Given the description of an element on the screen output the (x, y) to click on. 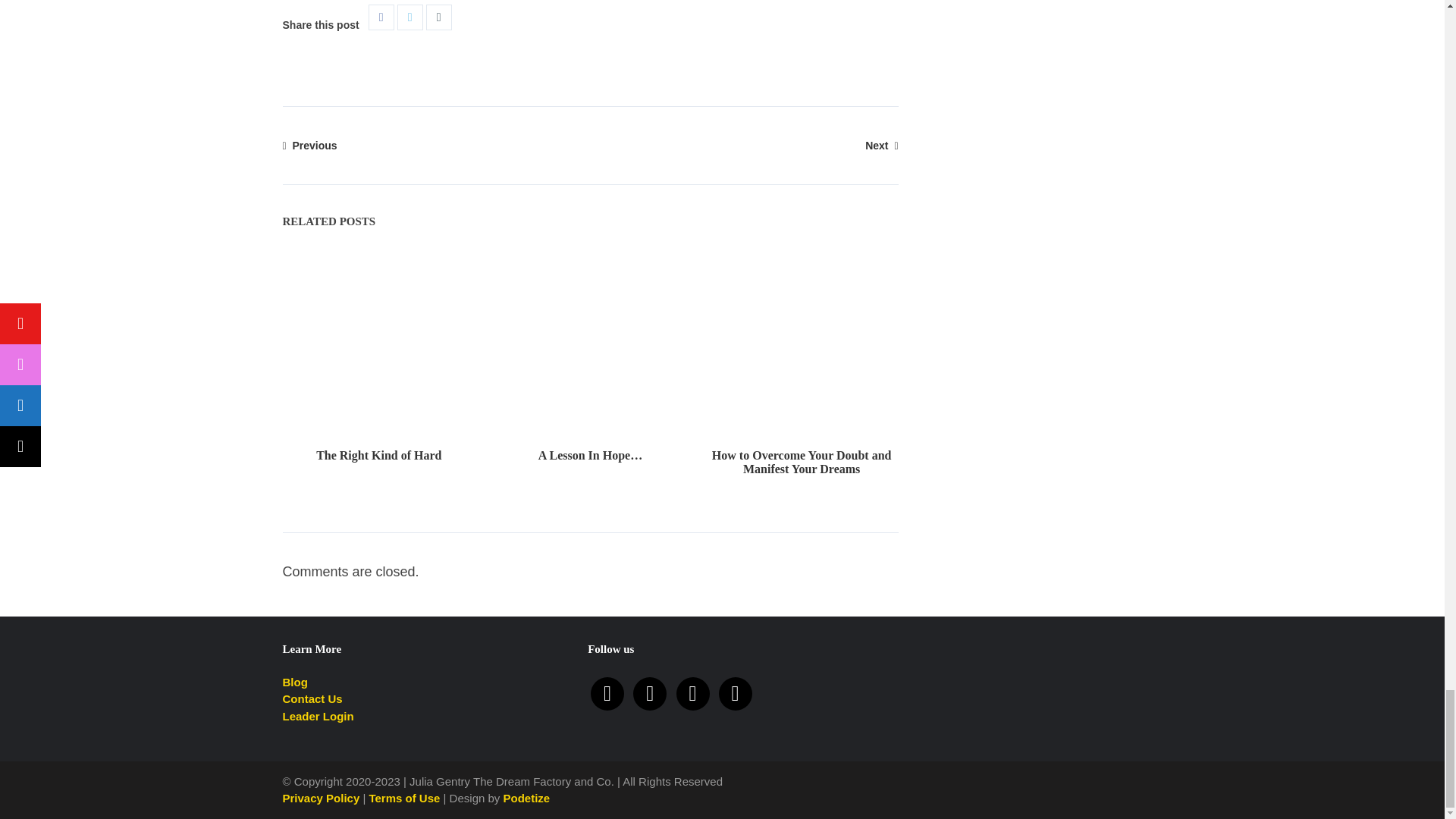
Share on WhatsApp (438, 16)
Share on Twitter (409, 16)
facebook (693, 692)
instagram (649, 692)
youtube (607, 692)
Share on Facebook (381, 16)
